Given the description of an element on the screen output the (x, y) to click on. 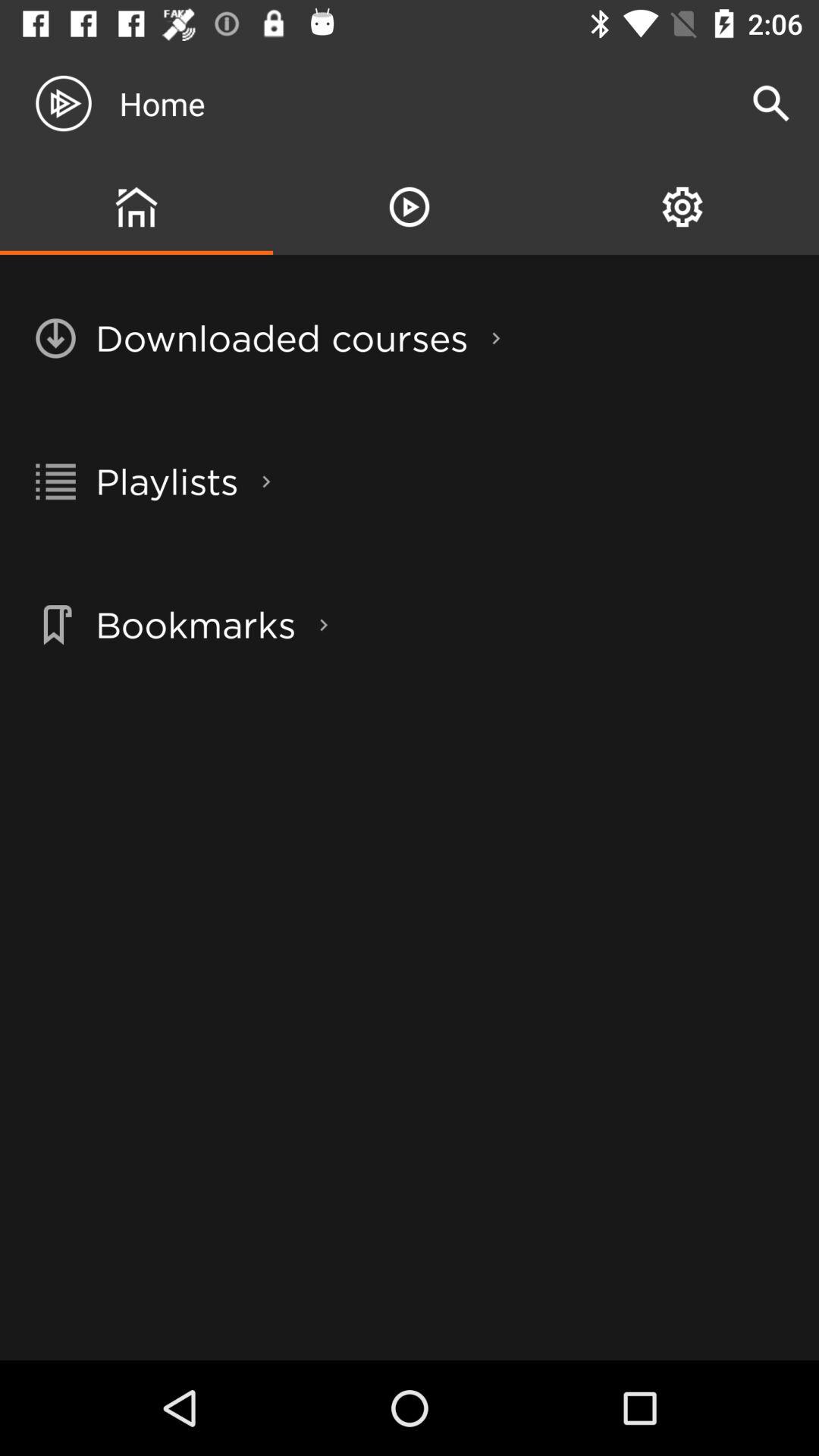
open the icon above downloaded courses (409, 206)
